Given the description of an element on the screen output the (x, y) to click on. 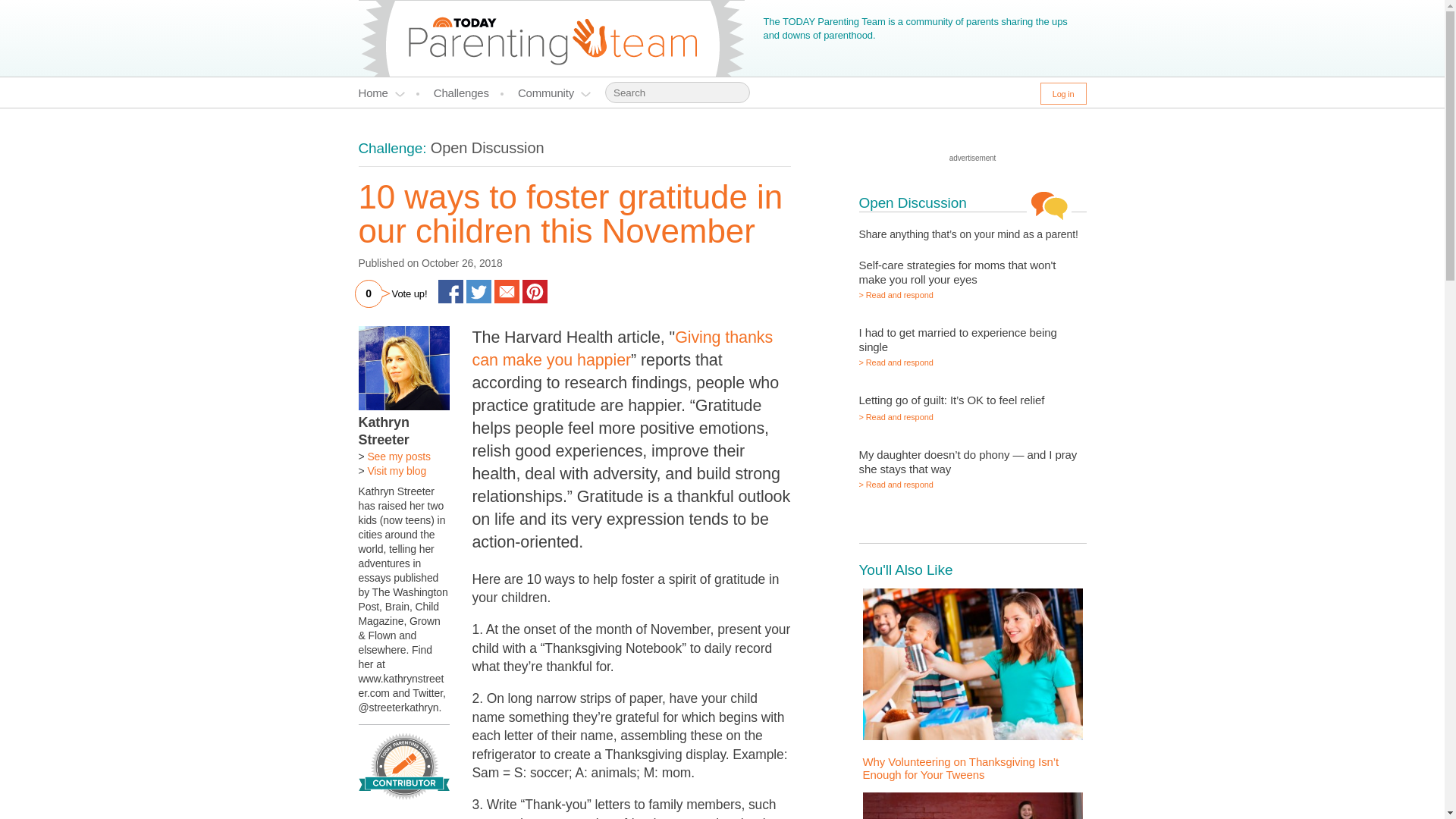
Vote up! (409, 293)
Log in (1063, 93)
Home (388, 92)
Community (554, 92)
Challenges (468, 92)
Open Discussion (487, 147)
Giving thanks can make you happier (622, 348)
